Given the description of an element on the screen output the (x, y) to click on. 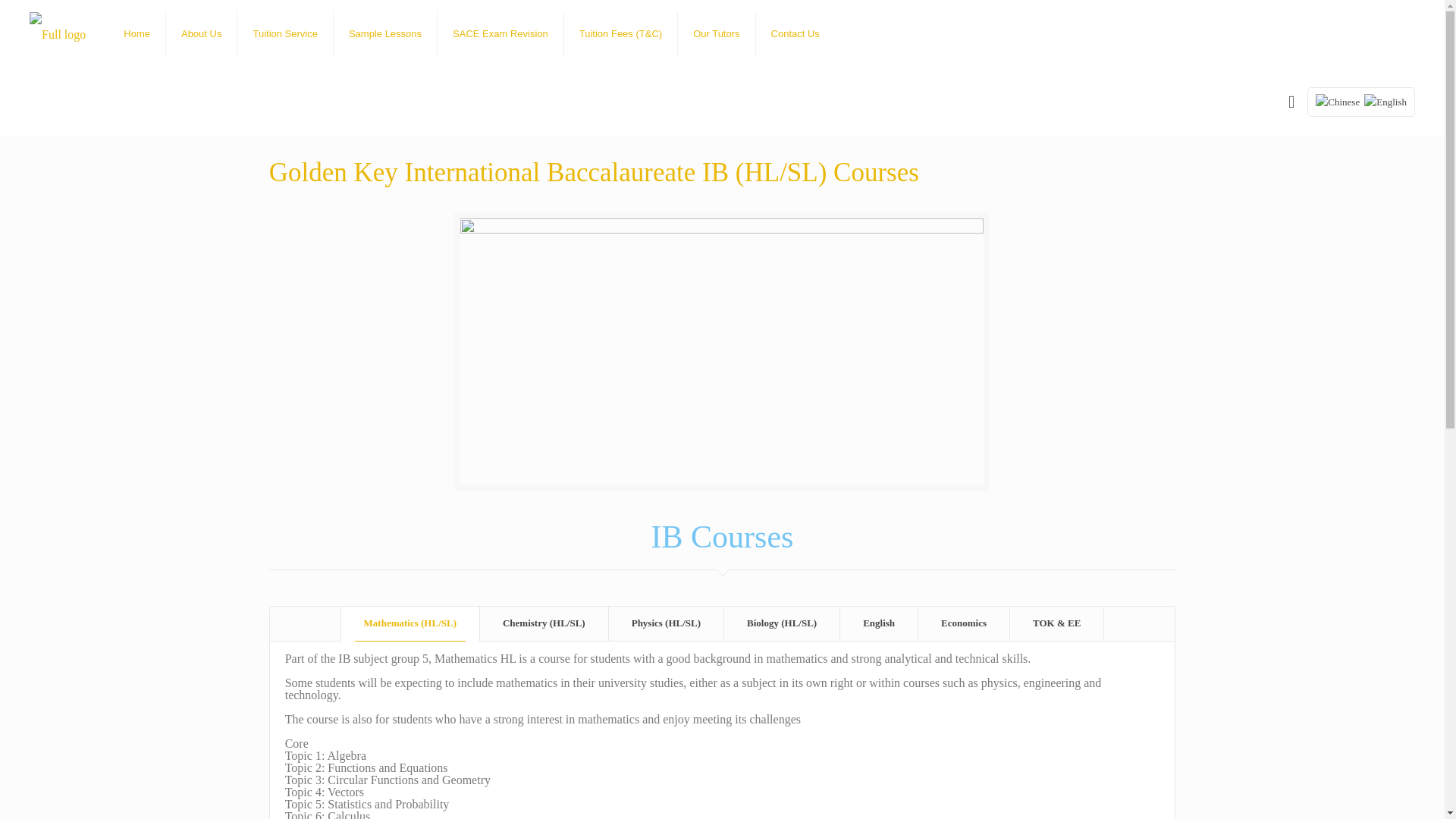
Tuition Service (285, 33)
Our Tutors (716, 33)
About Us (201, 33)
Contact Us (794, 33)
English (878, 623)
SACE Exam Revision (501, 33)
Economics (963, 623)
Sample Lessons (385, 33)
